Given the description of an element on the screen output the (x, y) to click on. 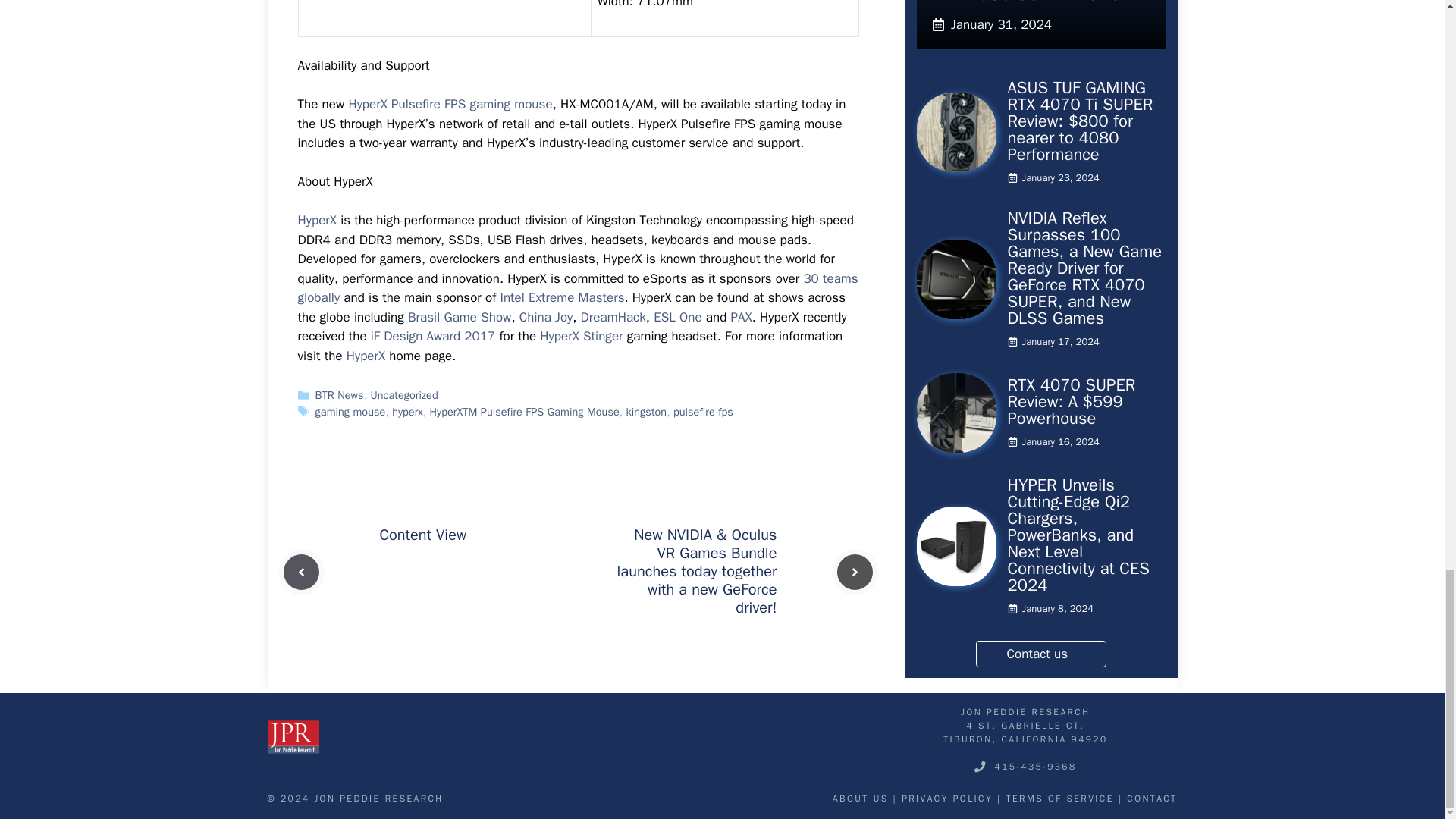
30 teams globally (577, 288)
Brasil Game Show (459, 317)
HyperX Pulsefire FPS gaming mouse (449, 104)
DreamHack (613, 317)
HyperX (316, 220)
ESL One (677, 317)
China Joy (546, 317)
Intel Extreme Masters (561, 297)
